Given the description of an element on the screen output the (x, y) to click on. 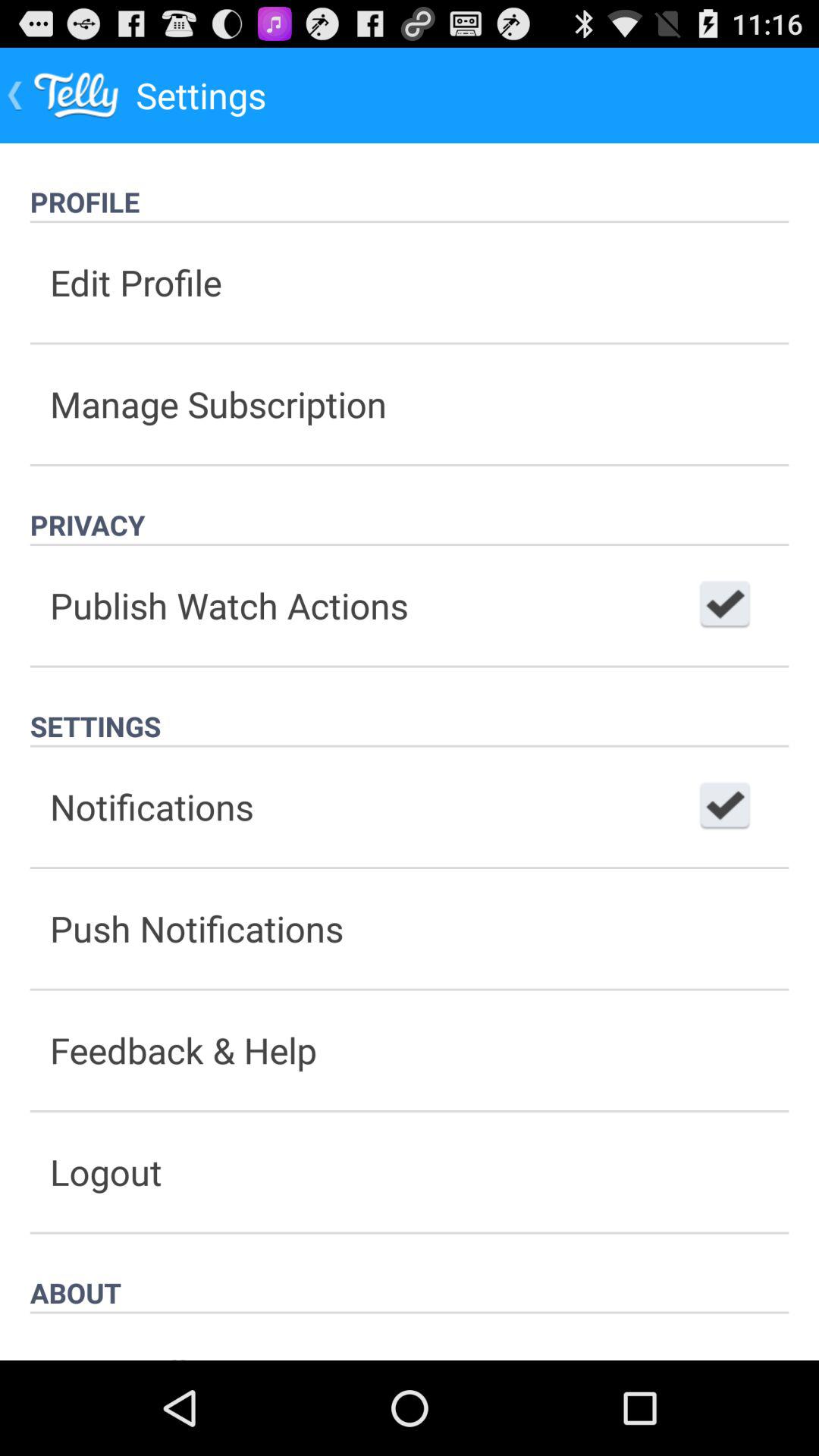
launch the app above the privacy app (409, 404)
